Given the description of an element on the screen output the (x, y) to click on. 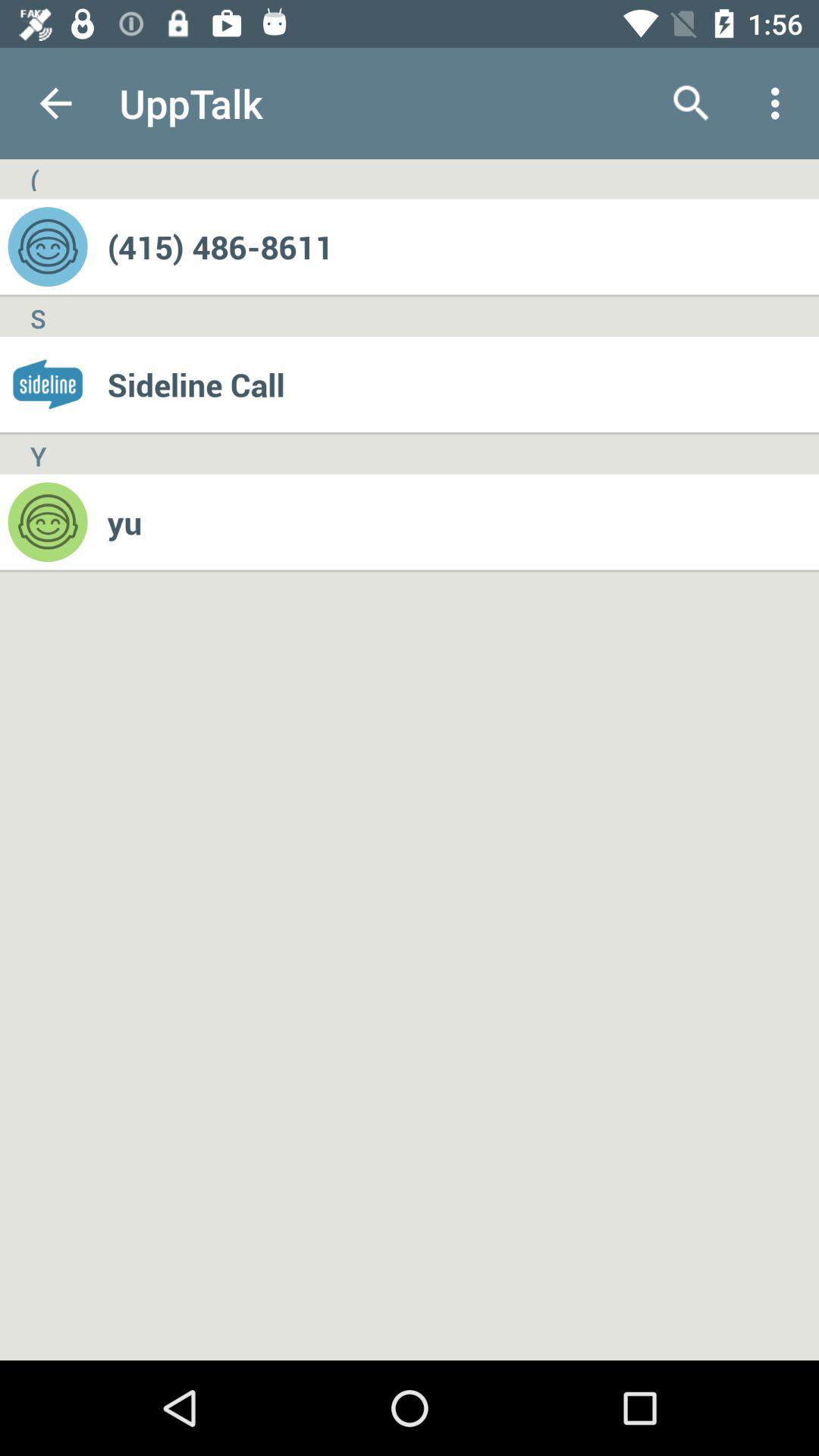
turn off the s item (38, 316)
